Given the description of an element on the screen output the (x, y) to click on. 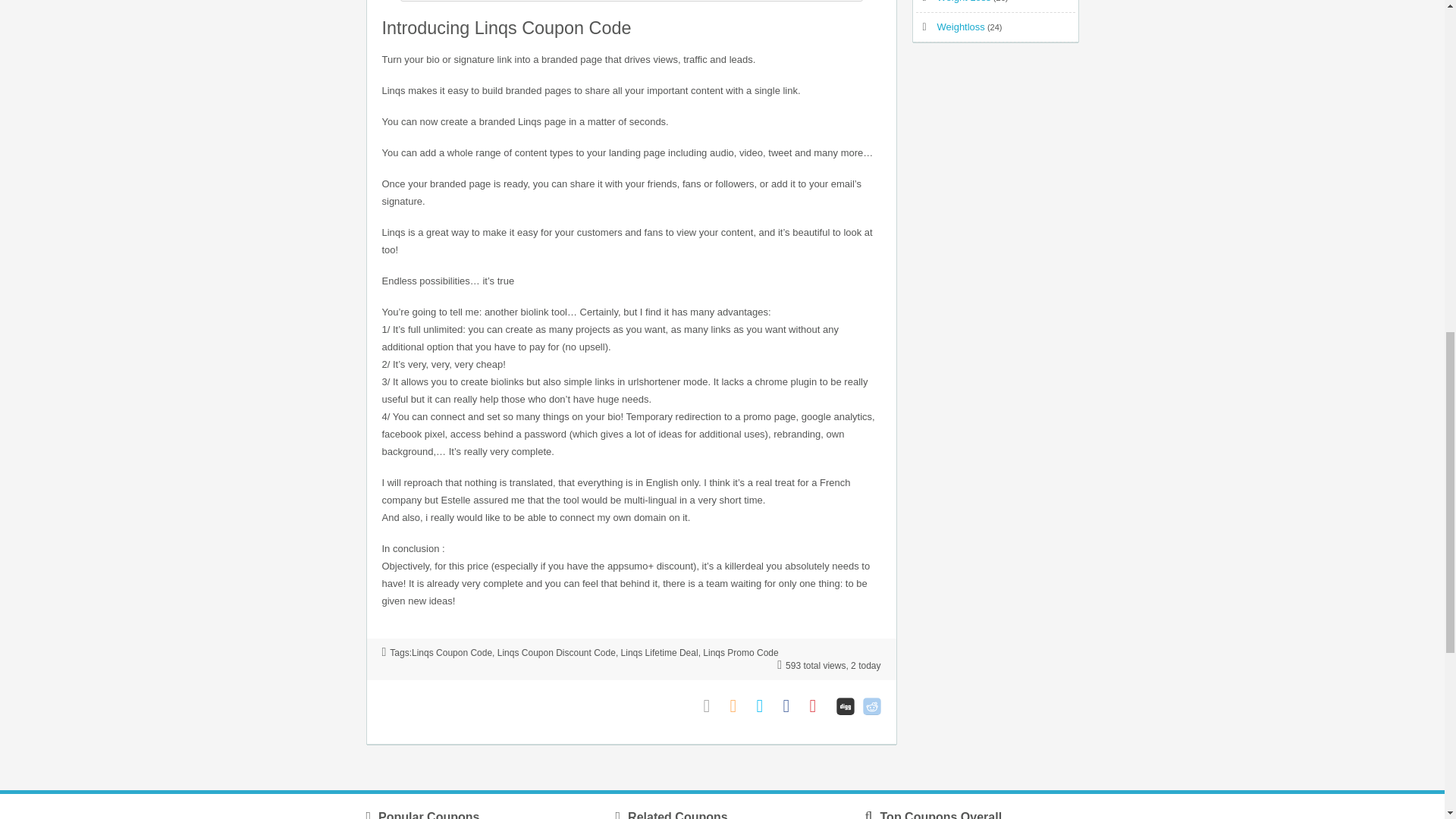
Linqs Coupon Code (452, 652)
Reddit (871, 705)
Email to Friend (712, 705)
Linqs Promo Code (740, 652)
Coupon Comments RSS (738, 705)
Facebook (791, 705)
Linqs Lifetime Deal (659, 652)
Digg (844, 705)
Twitter (765, 705)
Pinterest (818, 705)
Linqs Coupon Discount Code (556, 652)
